Given the description of an element on the screen output the (x, y) to click on. 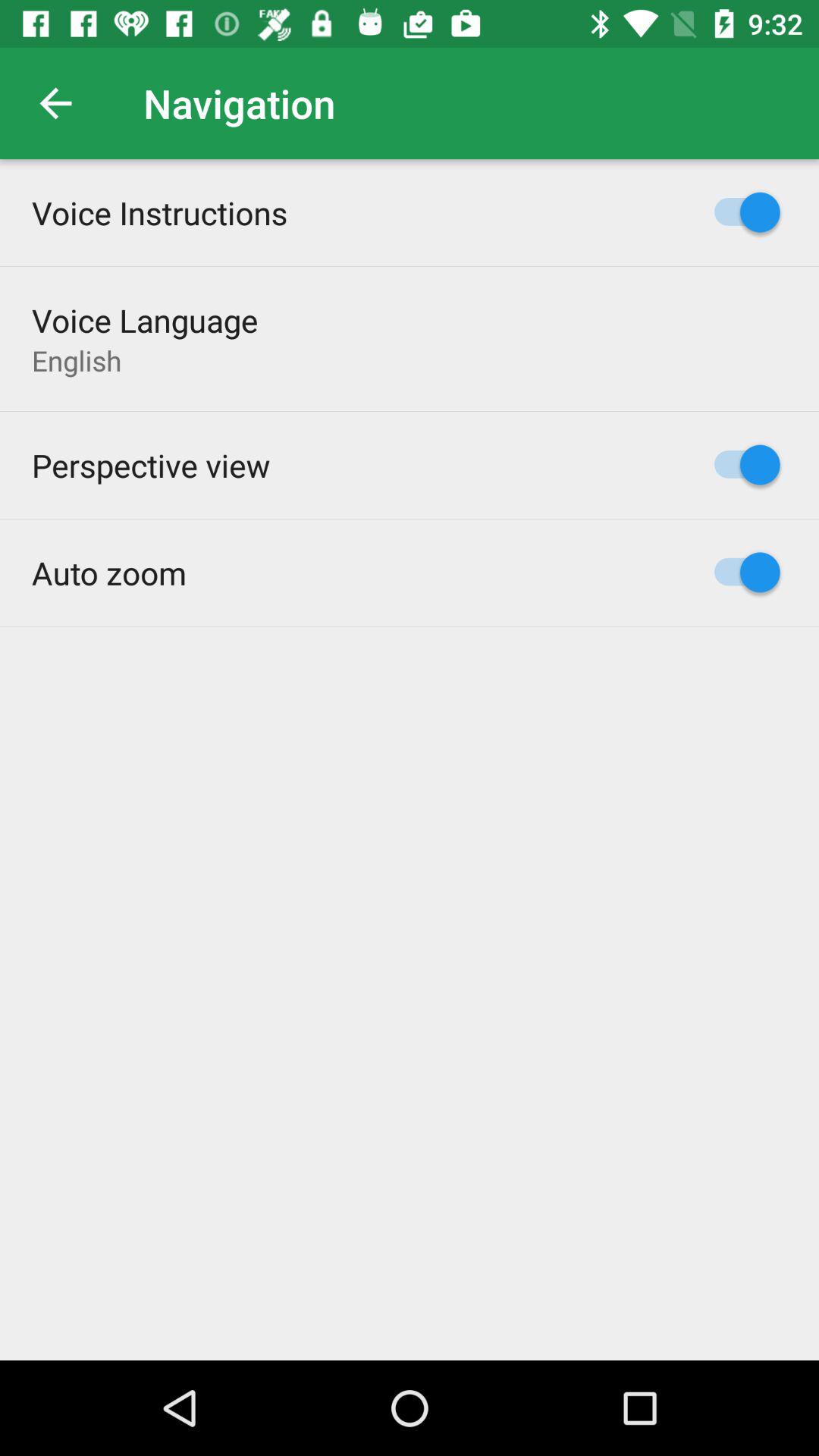
flip to perspective view (150, 464)
